Given the description of an element on the screen output the (x, y) to click on. 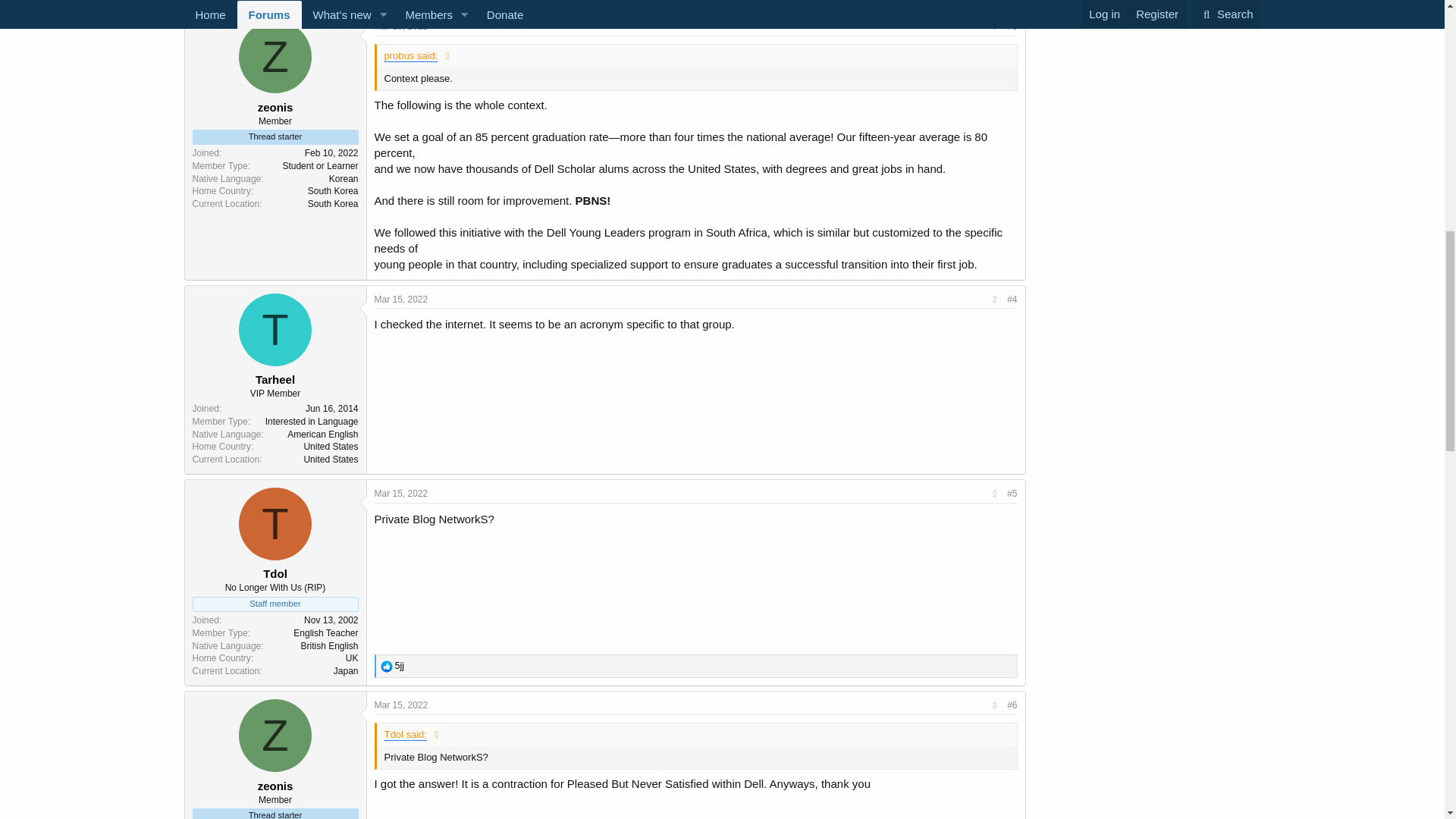
Mar 15, 2022 at 8:45 AM (401, 299)
Like (386, 666)
Mar 15, 2022 at 9:37 AM (401, 493)
Mar 15, 2022 at 8:36 AM (401, 26)
Mar 15, 2022 at 11:04 AM (401, 705)
